Given the description of an element on the screen output the (x, y) to click on. 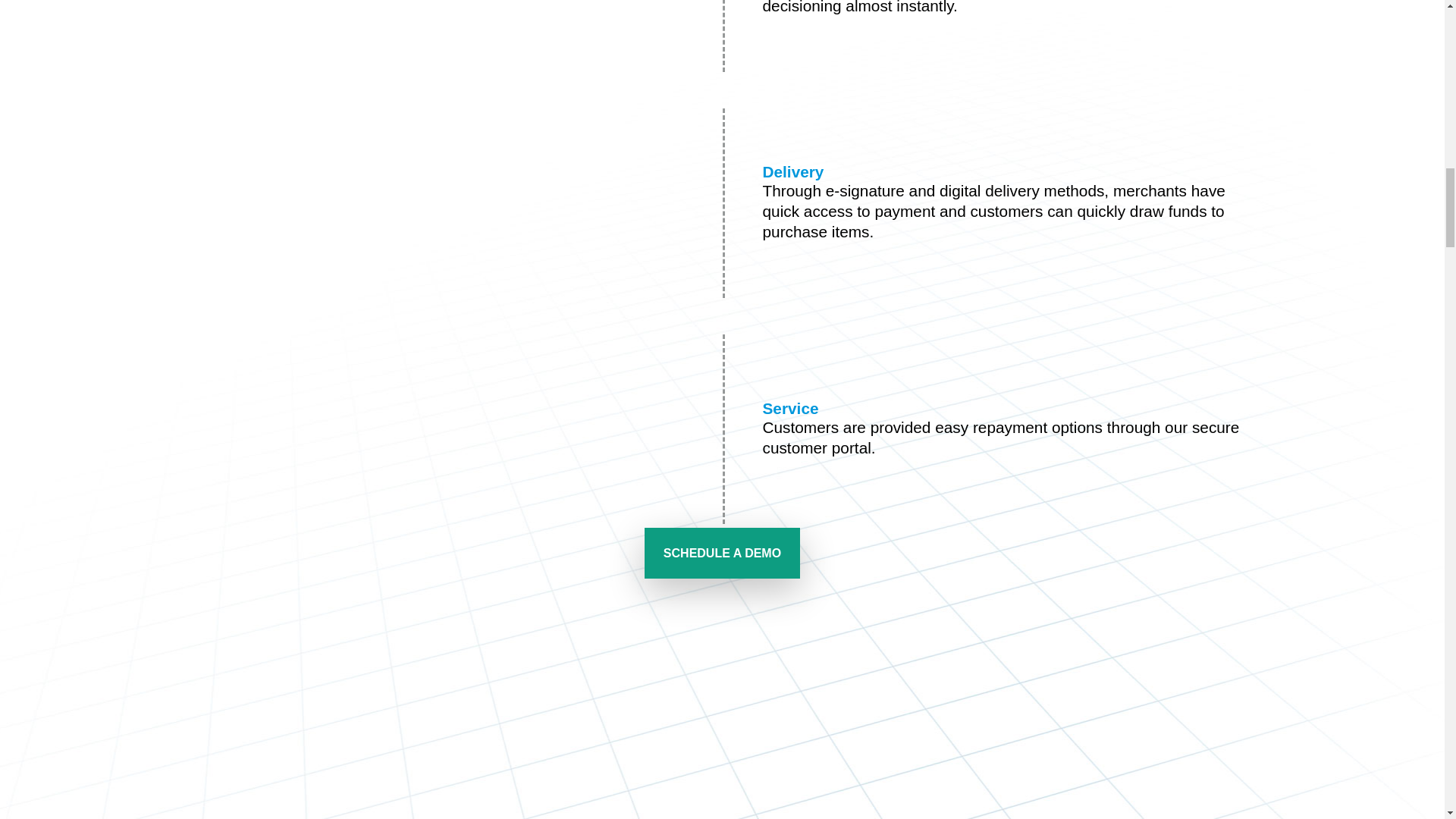
SCHEDULE A DEMO (722, 552)
SCHEDULE A DEMO (722, 552)
